Given the description of an element on the screen output the (x, y) to click on. 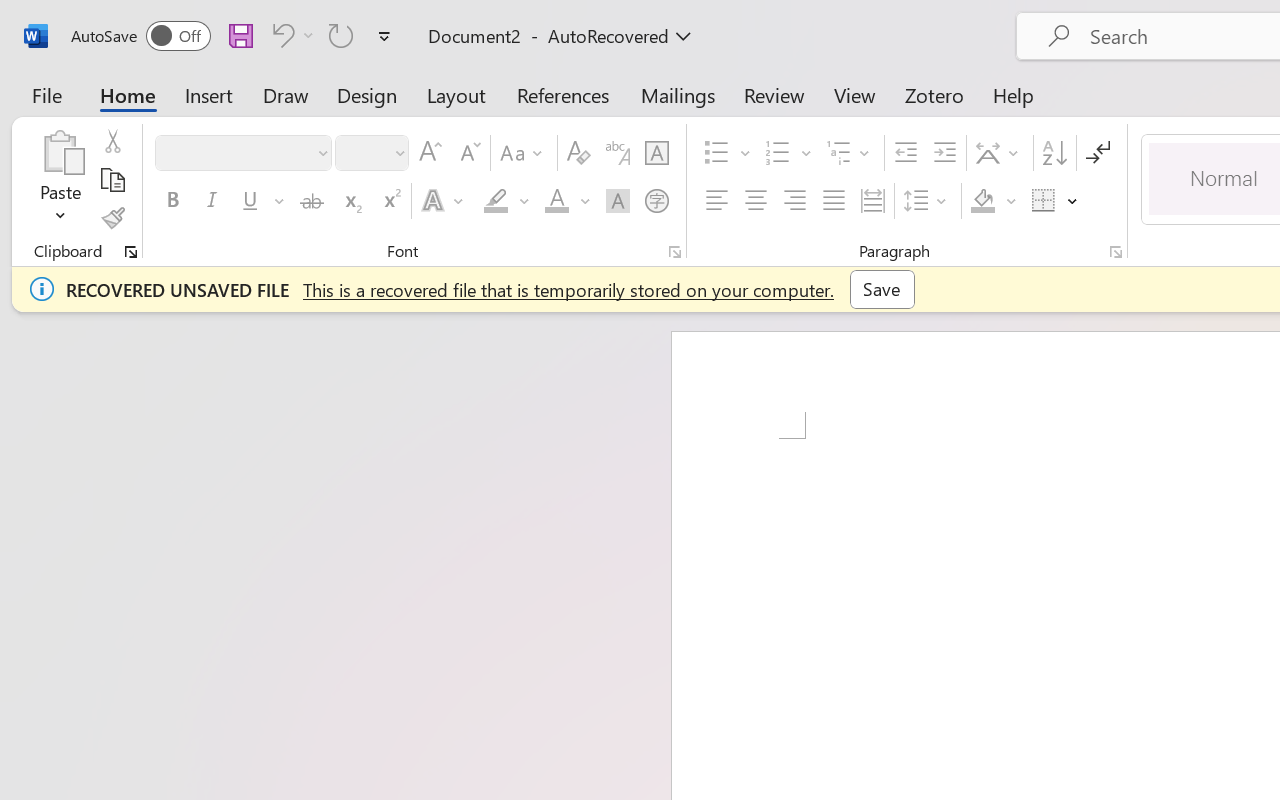
Center (756, 201)
Show/Hide Editing Marks (1098, 153)
Decrease Indent (906, 153)
Can't Undo (290, 35)
Font Color RGB(255, 0, 0) (556, 201)
Distributed (872, 201)
Strikethrough (312, 201)
Increase Indent (944, 153)
